Given the description of an element on the screen output the (x, y) to click on. 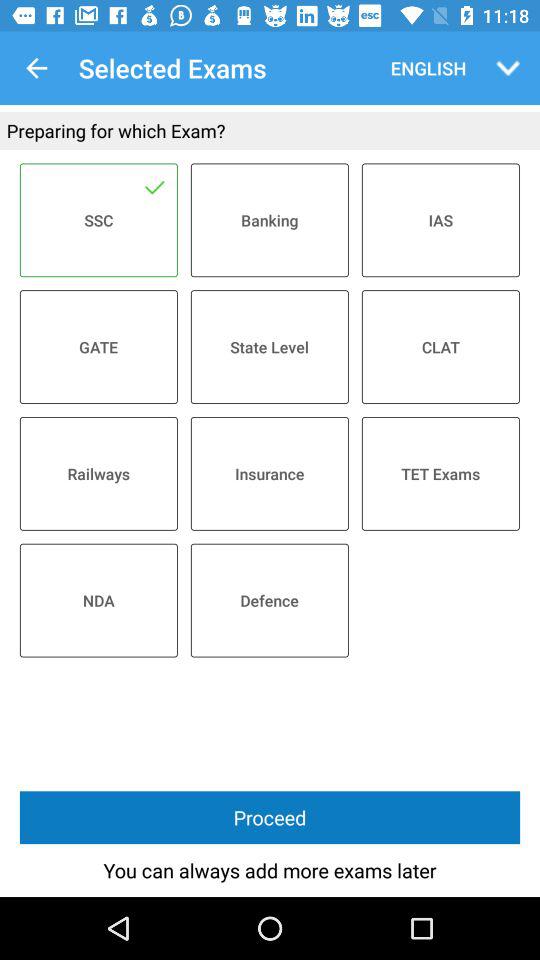
choose the item above the you can always item (269, 817)
